Given the description of an element on the screen output the (x, y) to click on. 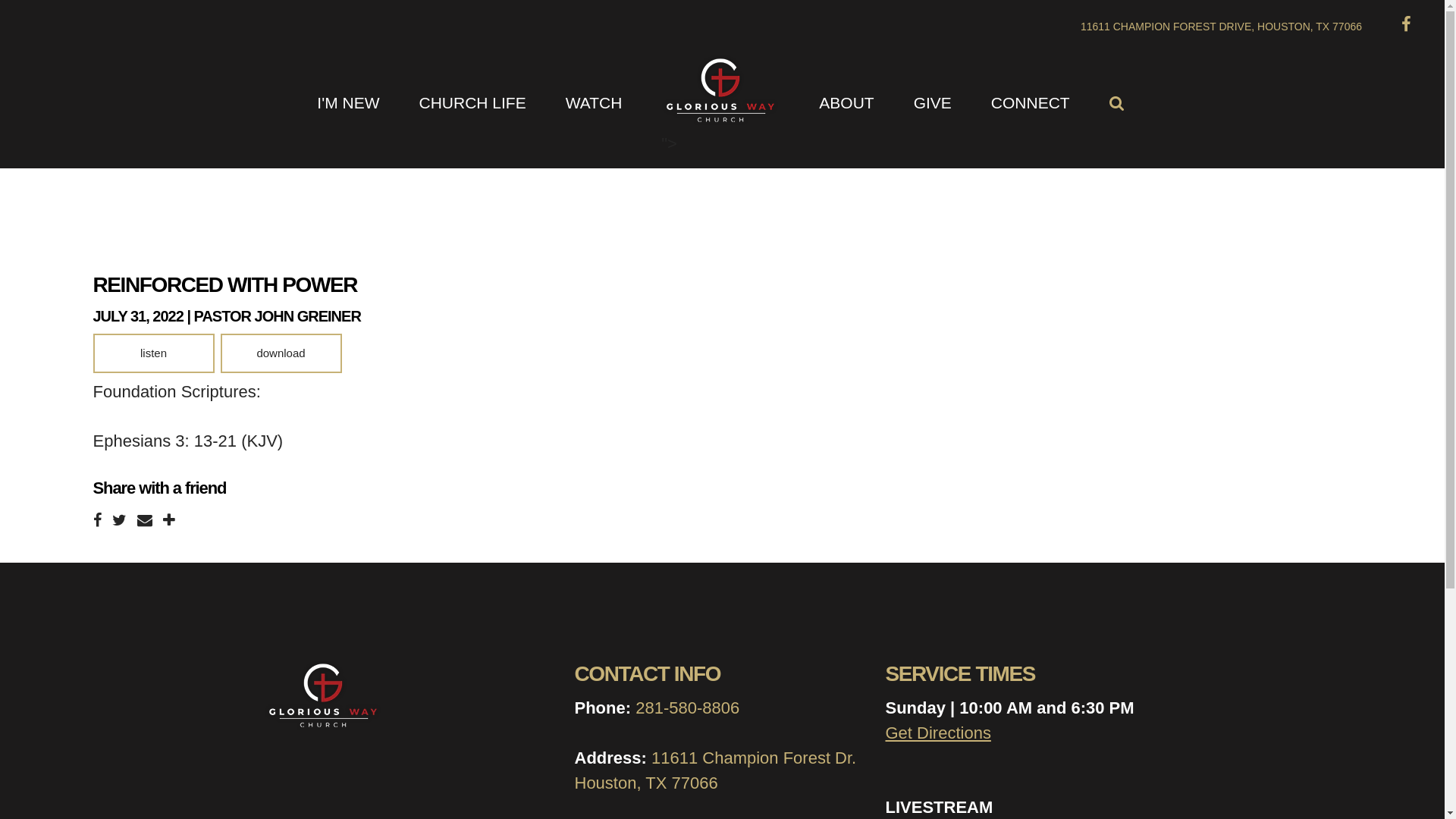
GIVE Element type: text (932, 102)
CHURCH LIFE Element type: text (471, 102)
11611 CHAMPION FOREST DRIVE, HOUSTON, TX 77066 Element type: text (1220, 26)
Get Directions Element type: text (1009, 745)
listen Element type: text (152, 353)
Facebook Element type: hover (1406, 24)
281-580-8806 Element type: text (687, 707)
WATCH Element type: text (593, 102)
download Element type: text (280, 353)
I'M NEW Element type: text (347, 102)
ABOUT Element type: text (846, 102)
CONNECT Element type: text (1030, 102)
11611 Champion Forest Dr.
Houston, TX 77066 Element type: text (715, 770)
